Given the description of an element on the screen output the (x, y) to click on. 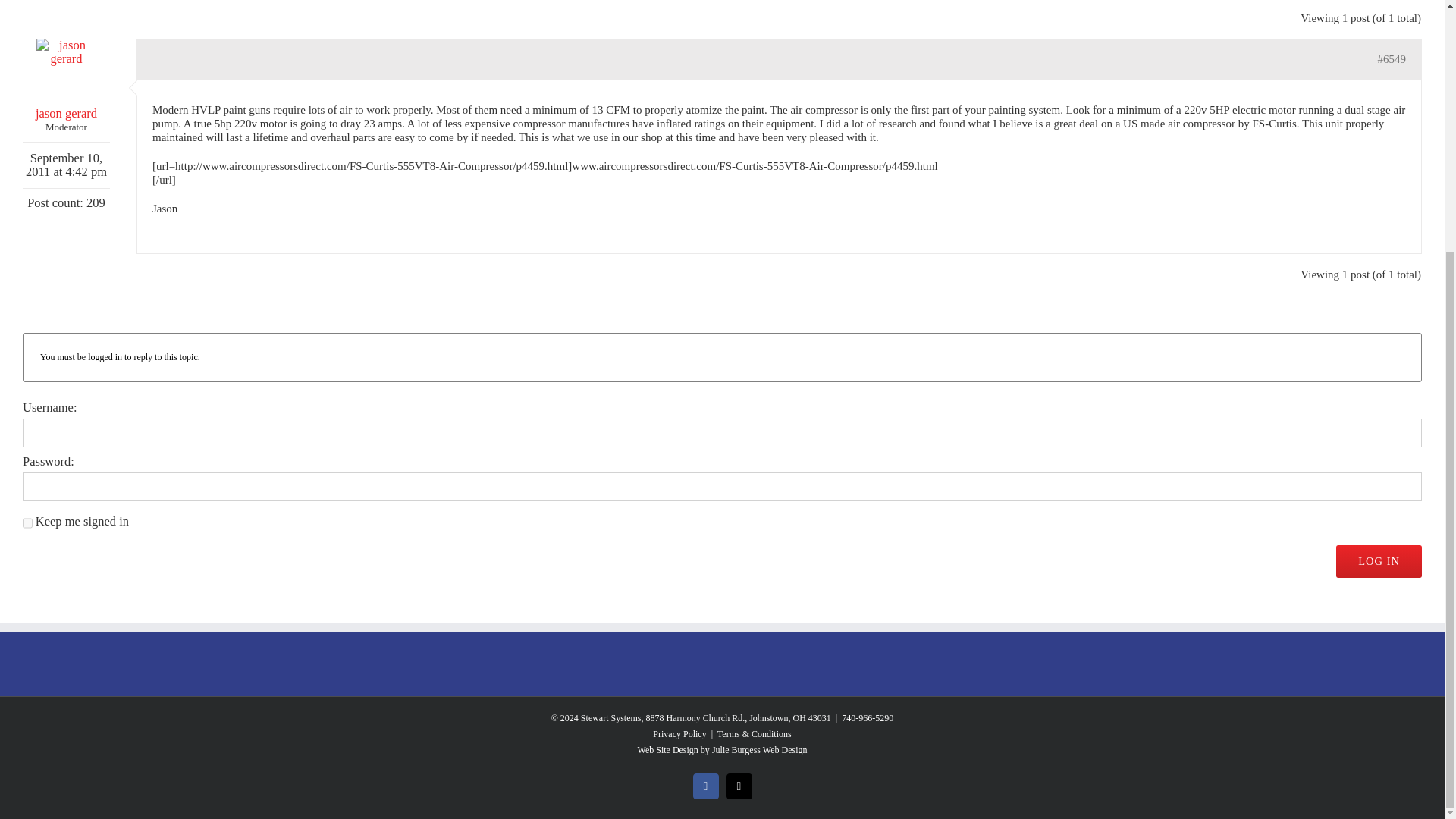
jason gerard (66, 78)
Facebook (706, 786)
View jason gerard's profile (66, 78)
X (739, 786)
